Given the description of an element on the screen output the (x, y) to click on. 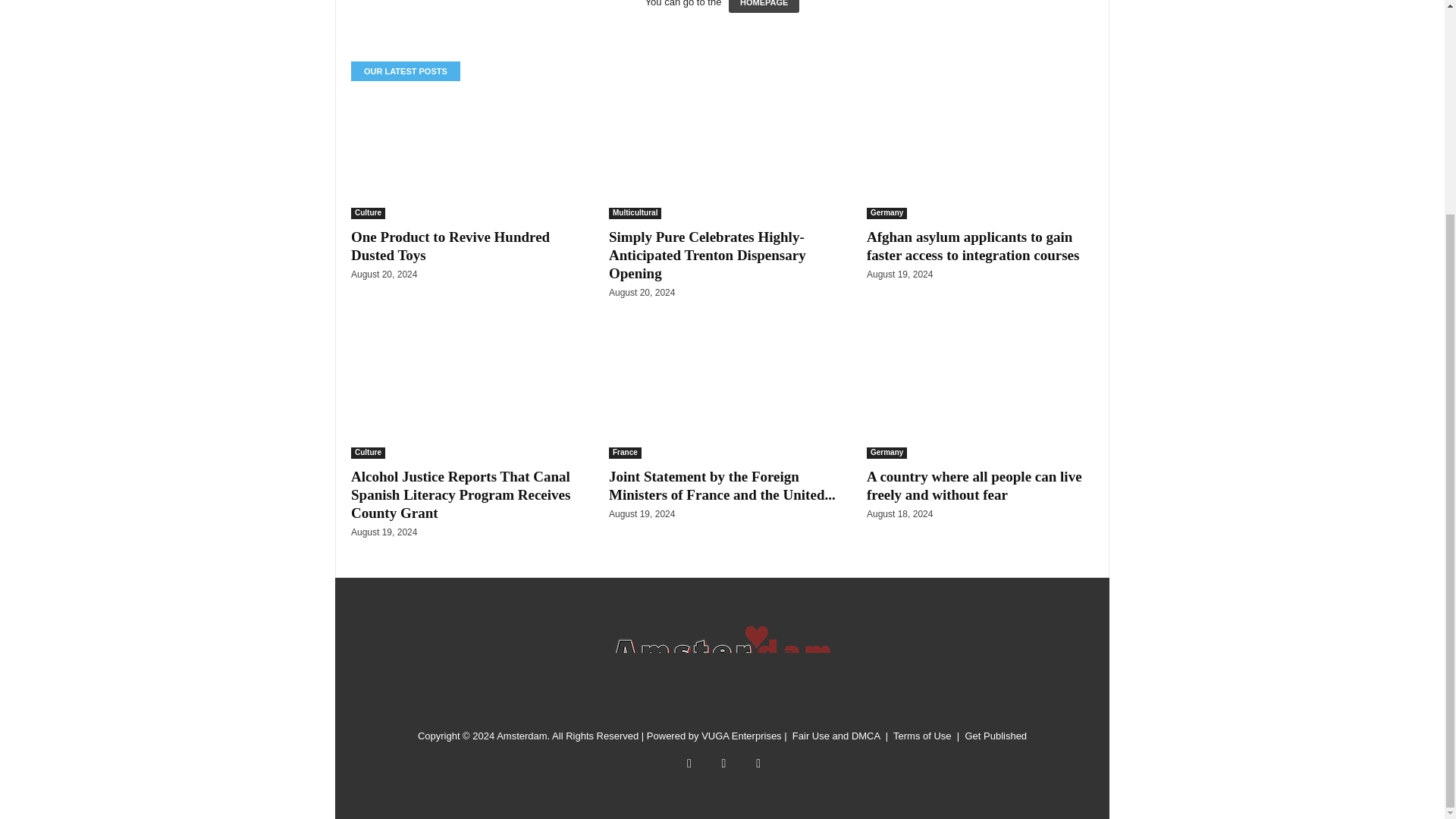
France (625, 452)
HOMEPAGE (764, 6)
One Product to Revive Hundred Dusted Toys (464, 158)
Multicultural (634, 213)
Culture (367, 452)
